Given the description of an element on the screen output the (x, y) to click on. 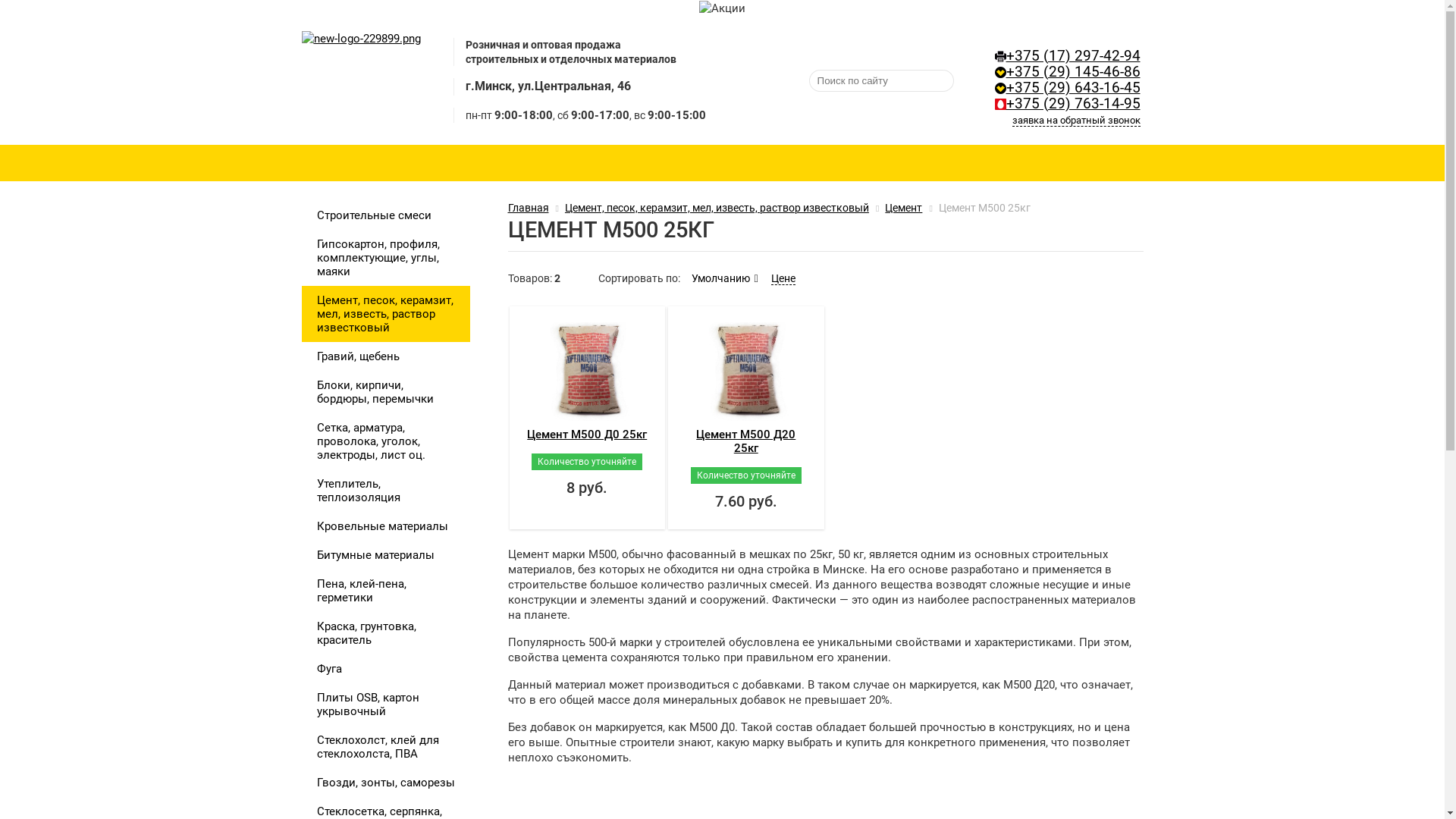
+375 (29) 643-16-45 Element type: text (1072, 87)
tel Element type: hover (1000, 56)
+375 (17) 297-42-94 Element type: text (1072, 55)
+375 (29) 763-14-95 Element type: text (1072, 103)
+375 (29) 145-46-86 Element type: text (1072, 71)
Velcom Element type: hover (1000, 88)
Budaynik Element type: hover (361, 80)
Velcom Element type: hover (1000, 72)
Life Element type: hover (1000, 103)
